Given the description of an element on the screen output the (x, y) to click on. 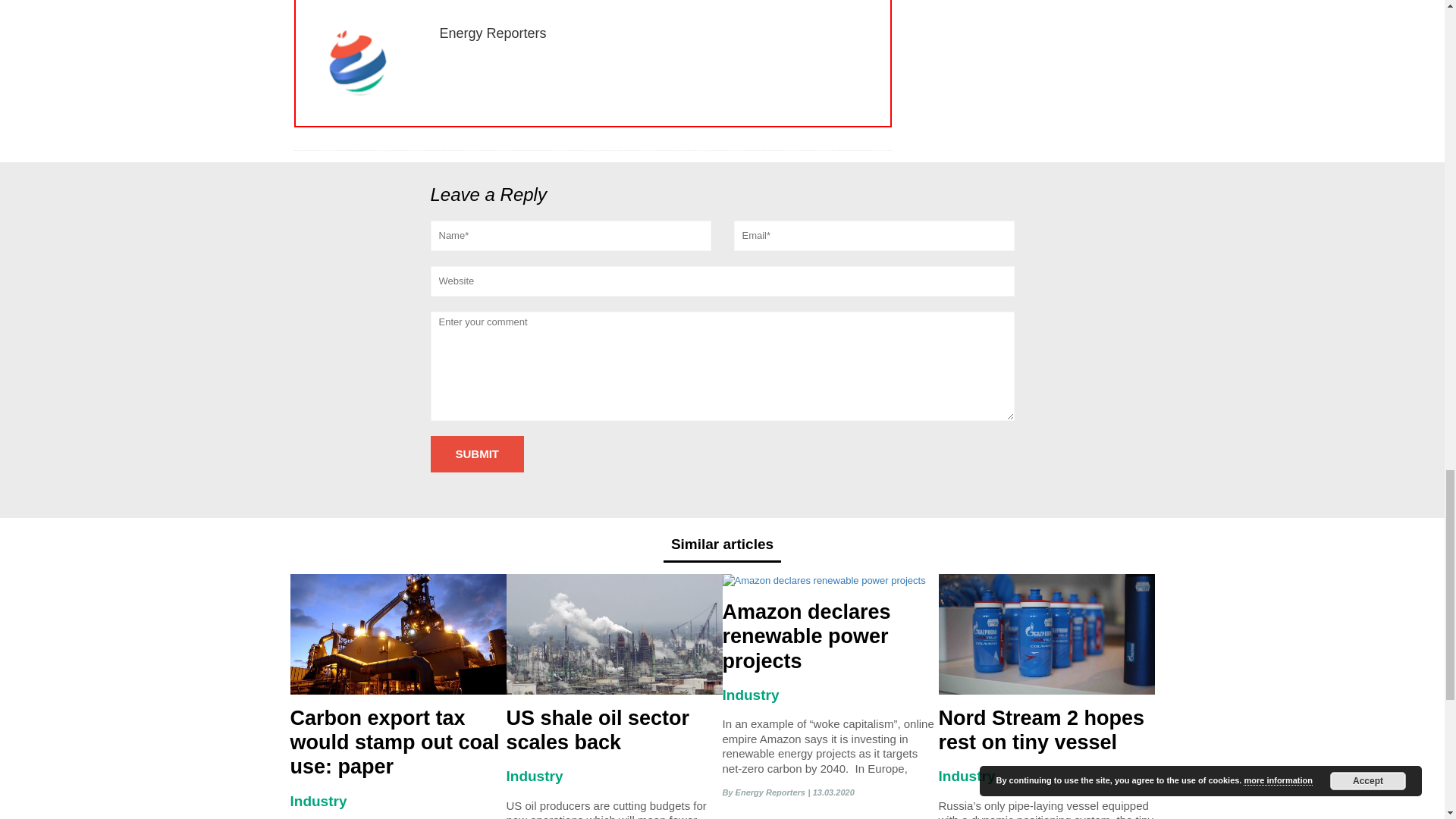
Submit (477, 454)
